Given the description of an element on the screen output the (x, y) to click on. 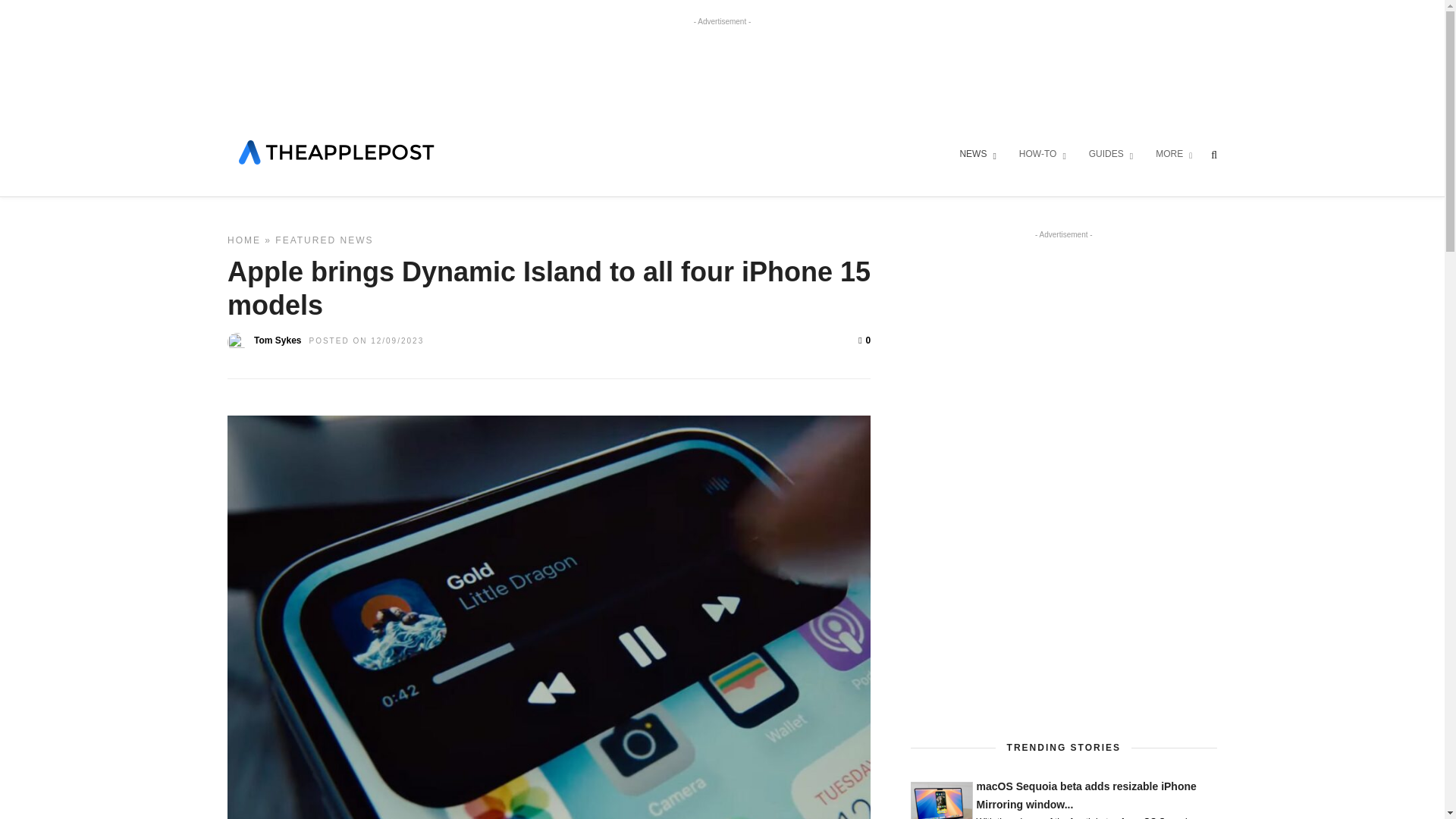
HOW-TO (1042, 154)
GUIDES (1110, 154)
Advertisement (721, 70)
NEWS (977, 154)
